Given the description of an element on the screen output the (x, y) to click on. 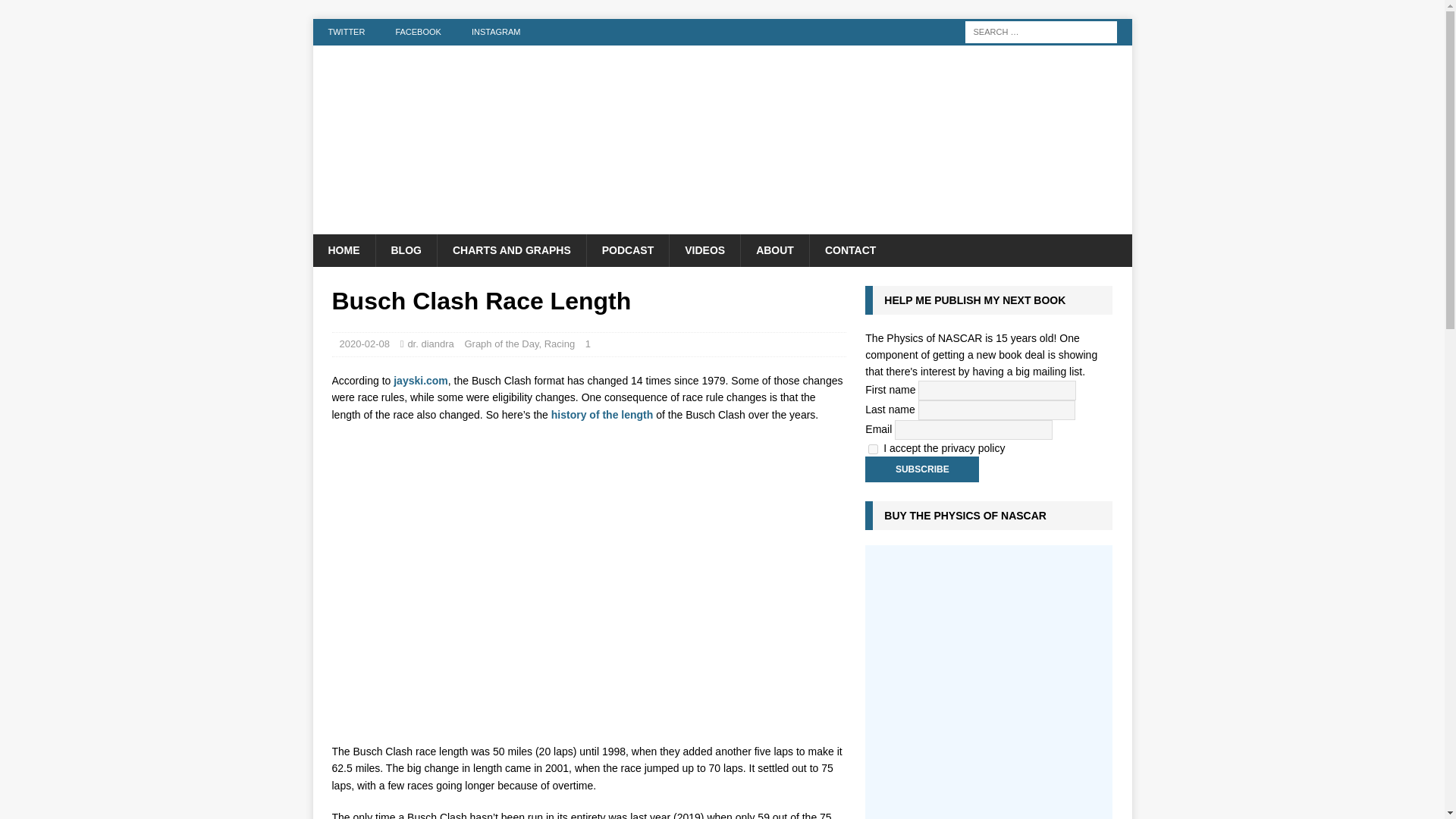
BLOG (404, 250)
PODCAST (627, 250)
Search (56, 11)
HOME (343, 250)
CHARTS AND GRAPHS (511, 250)
history of the length (602, 414)
TWITTER (346, 31)
on (872, 449)
dr. diandra (429, 343)
ABOUT (774, 250)
